Given the description of an element on the screen output the (x, y) to click on. 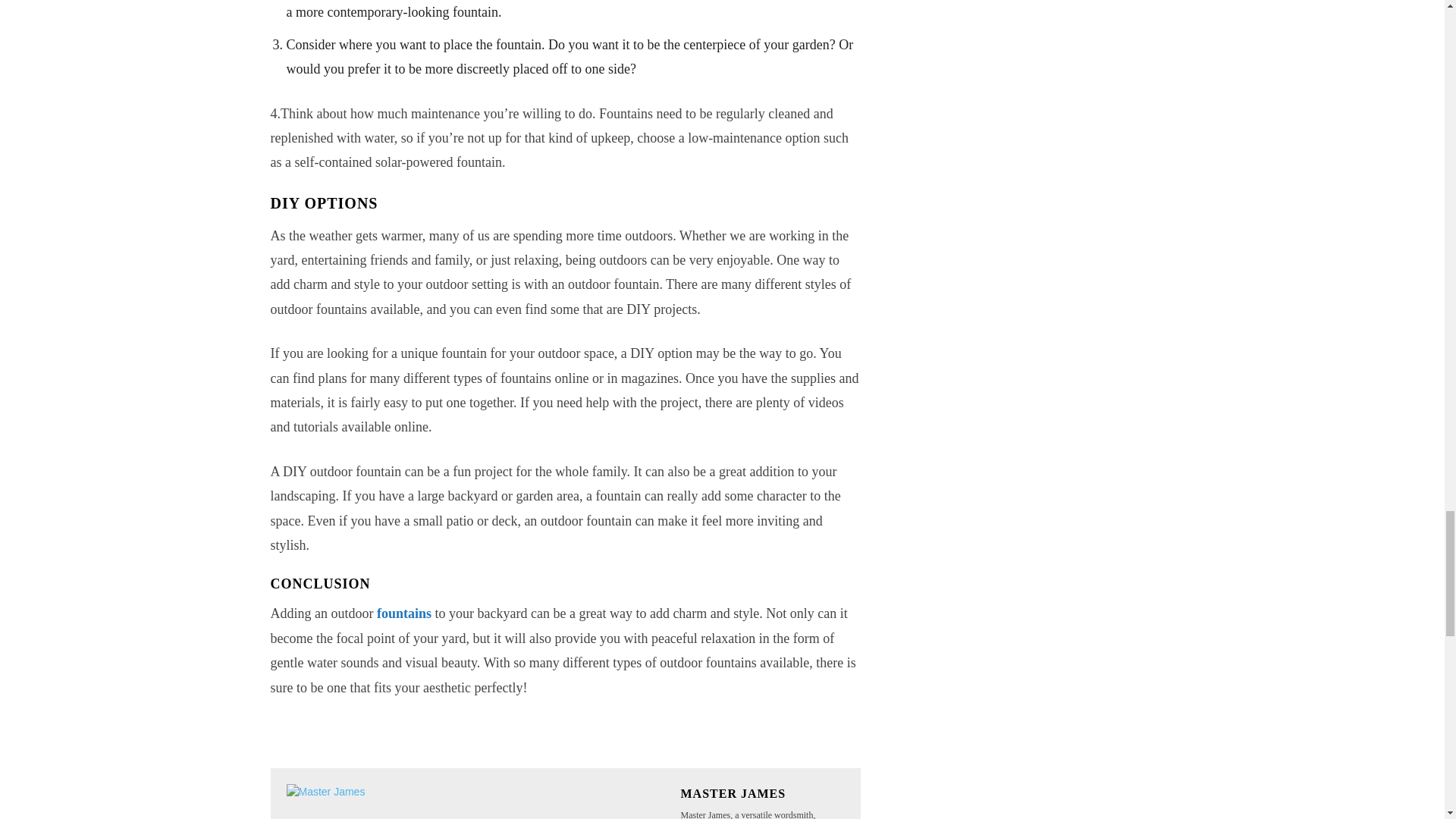
Master James (475, 801)
